Given the description of an element on the screen output the (x, y) to click on. 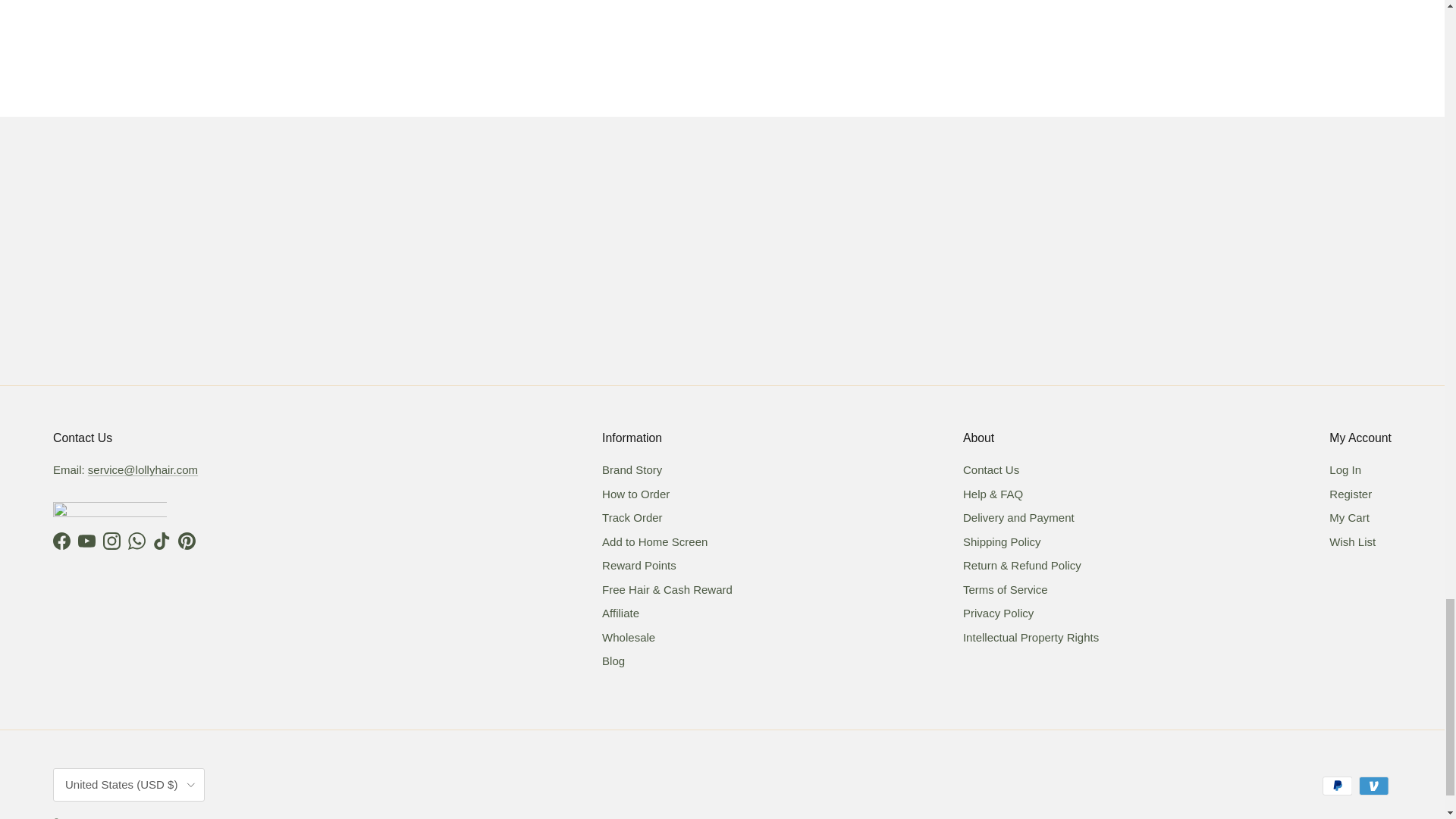
Venmo (1373, 785)
LollyHair on YouTube (87, 540)
PayPal (1337, 785)
LollyHair on Facebook (60, 540)
LollyHair on Instagram (111, 540)
LollyHair on WhatsApp (136, 540)
